Given the description of an element on the screen output the (x, y) to click on. 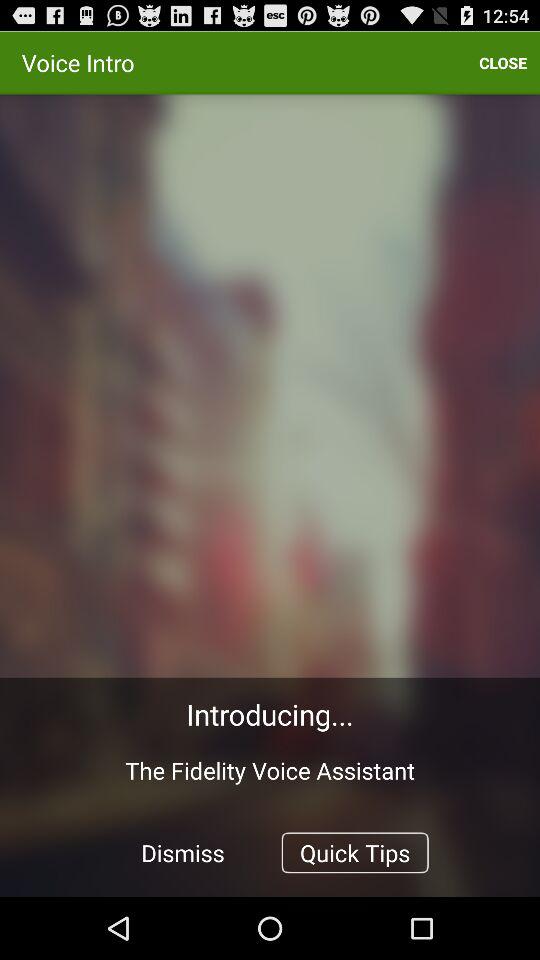
tap the item next to the voice intro (503, 62)
